Given the description of an element on the screen output the (x, y) to click on. 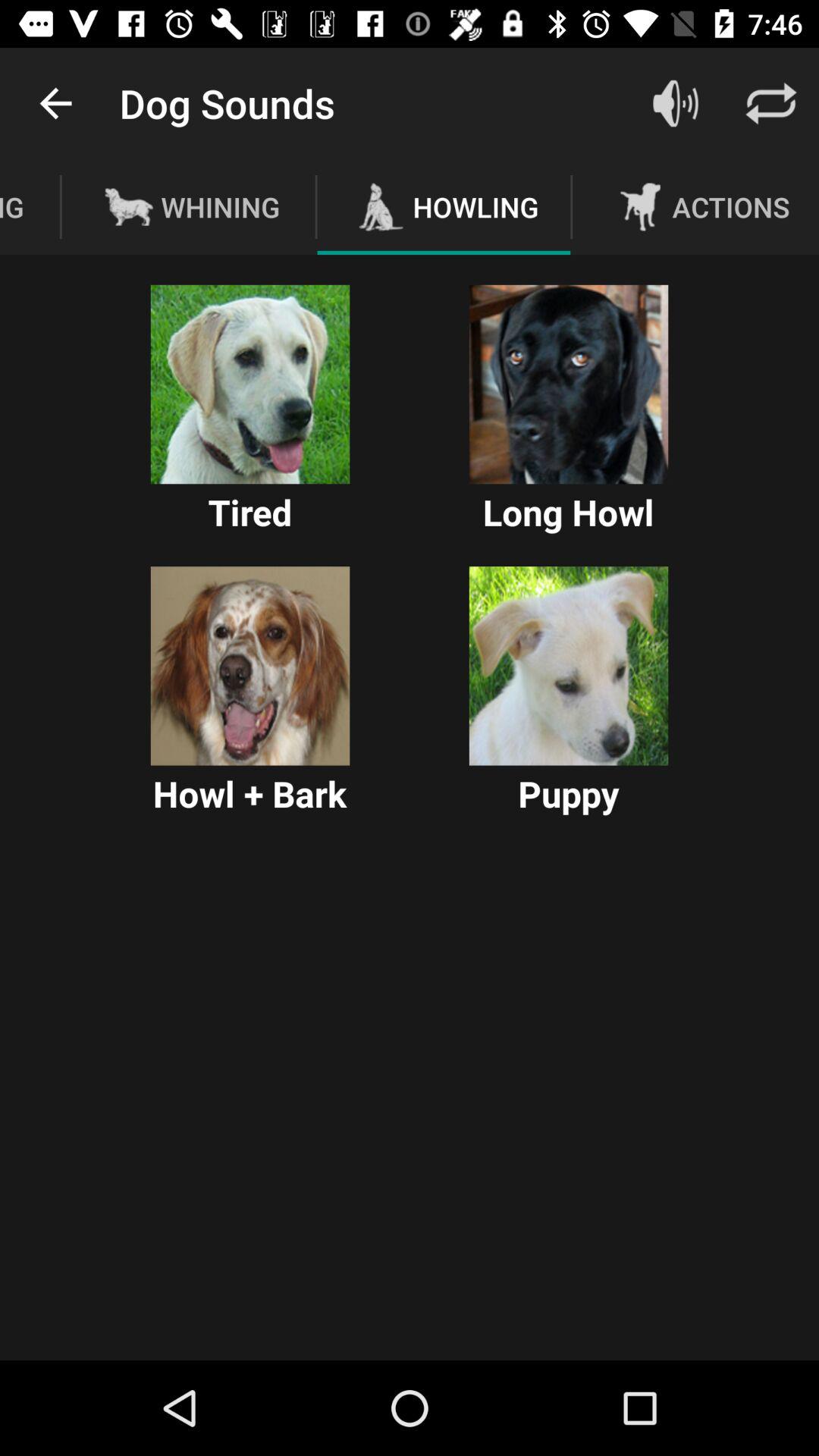
listen to puppy (568, 665)
